Given the description of an element on the screen output the (x, y) to click on. 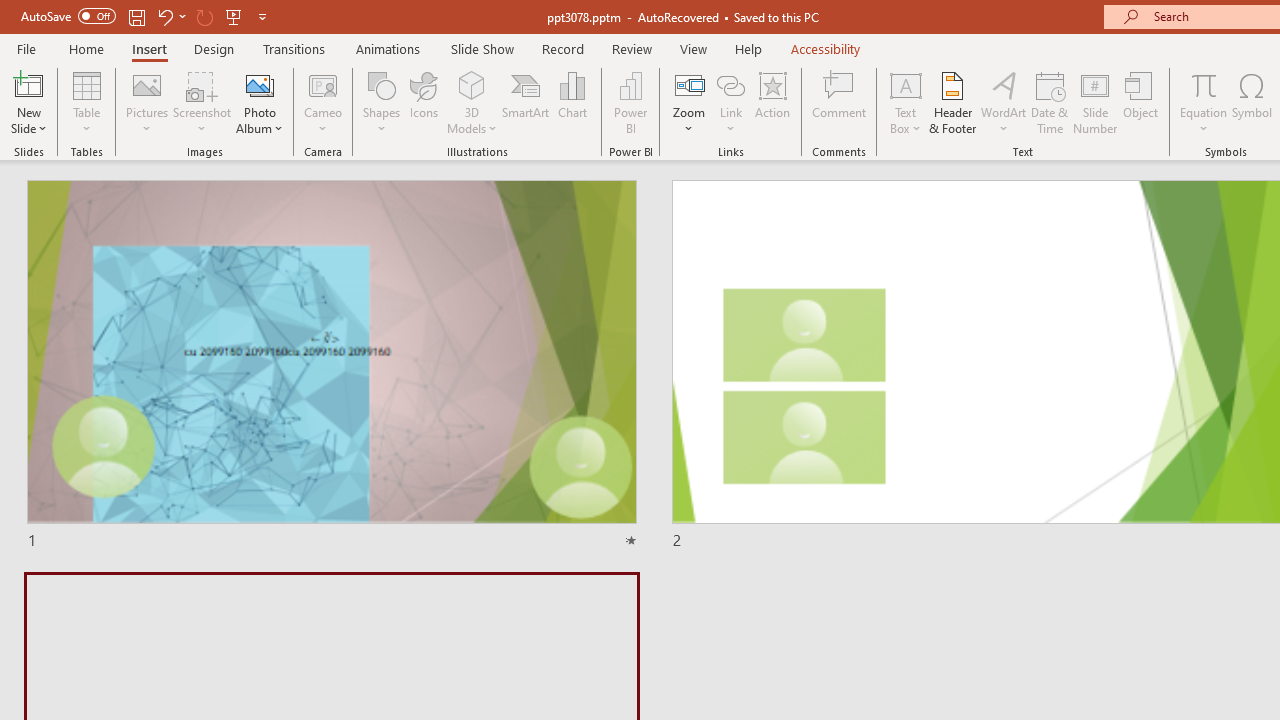
Table (86, 102)
Link (731, 102)
Power BI (630, 102)
New Photo Album... (259, 84)
Link (731, 84)
